Given the description of an element on the screen output the (x, y) to click on. 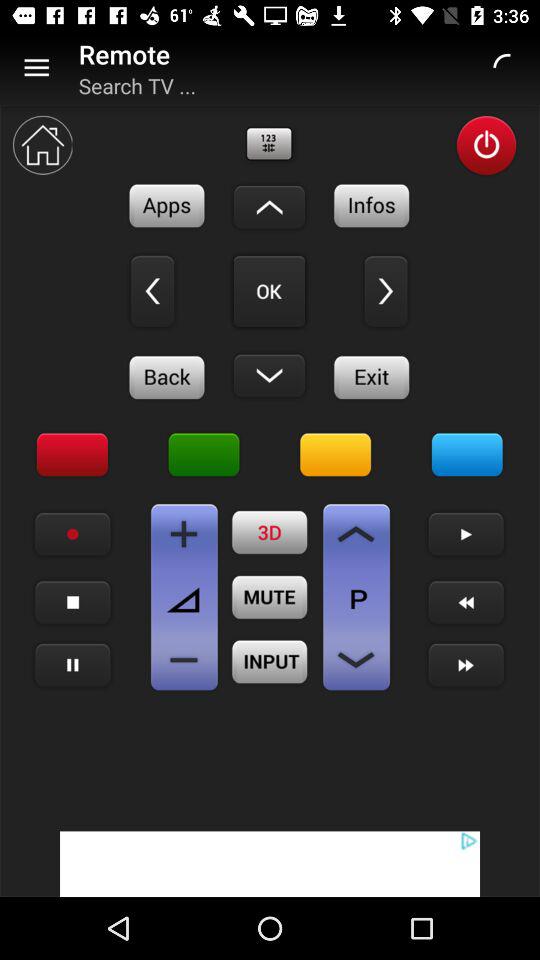
switch off the button (486, 145)
